Given the description of an element on the screen output the (x, y) to click on. 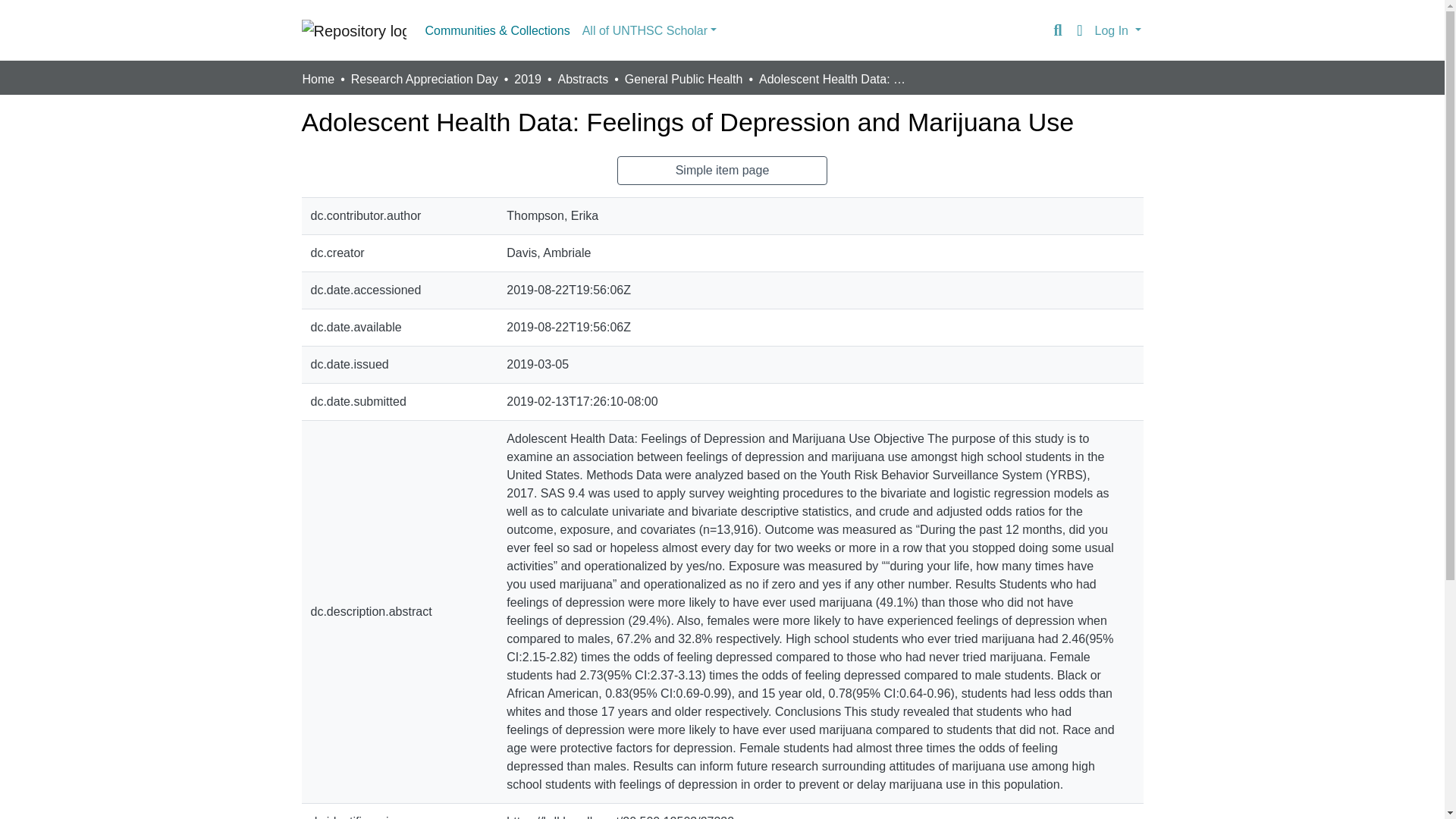
Abstracts (582, 79)
2019 (527, 79)
General Public Health (683, 79)
Simple item page (722, 170)
All of UNTHSC Scholar (649, 30)
Search (1057, 30)
Home (317, 79)
Research Appreciation Day (423, 79)
Language switch (1079, 30)
Log In (1117, 30)
